Given the description of an element on the screen output the (x, y) to click on. 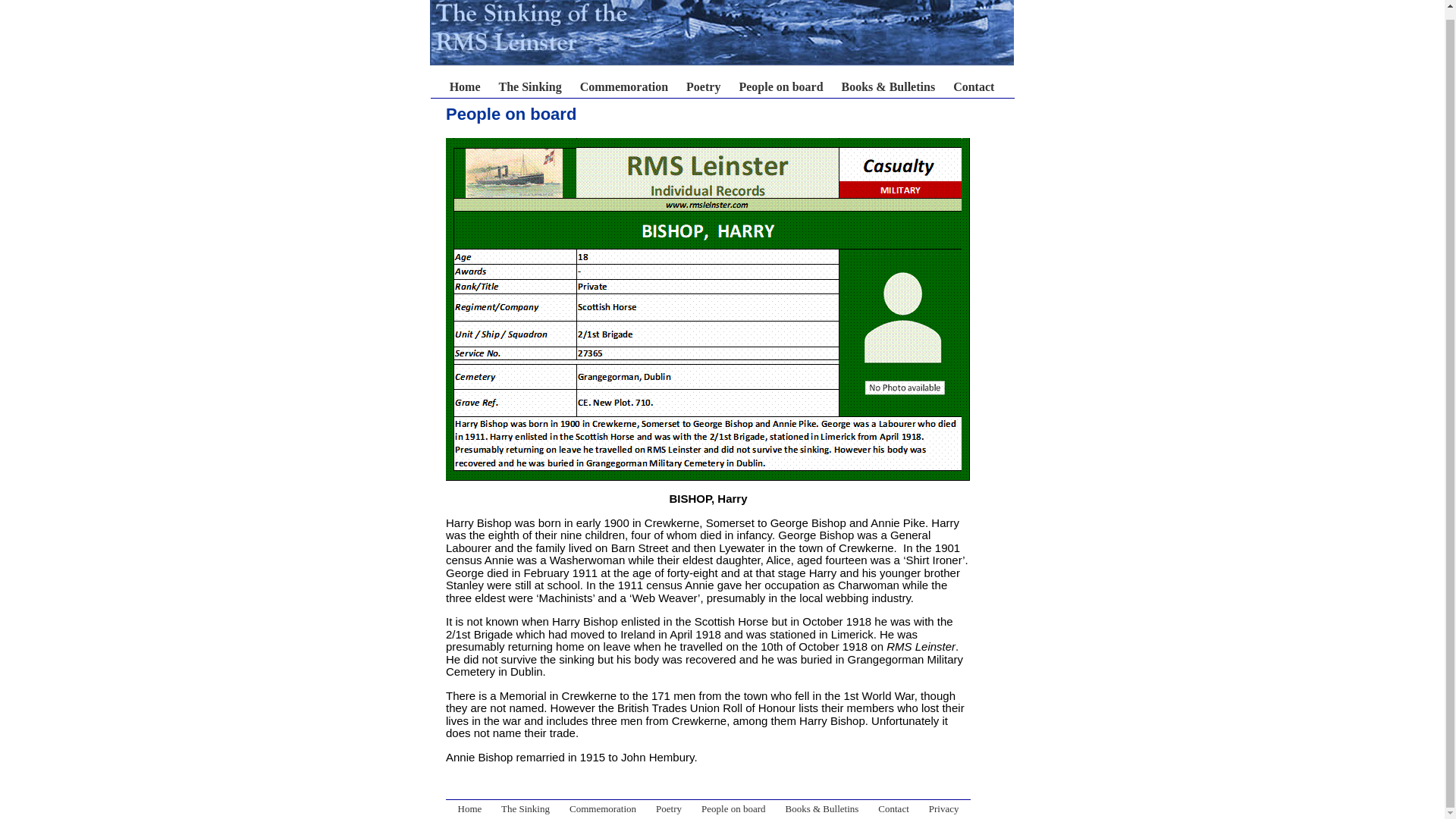
Commemoration (623, 86)
Contact (973, 86)
Home (585, 93)
Privacy (943, 808)
People on board (780, 86)
Poetry (668, 808)
People on board (733, 808)
The Sinking (525, 808)
Commemoration (602, 808)
The Sinking (530, 86)
Poetry (702, 86)
Home (469, 808)
Contact (892, 808)
